Given the description of an element on the screen output the (x, y) to click on. 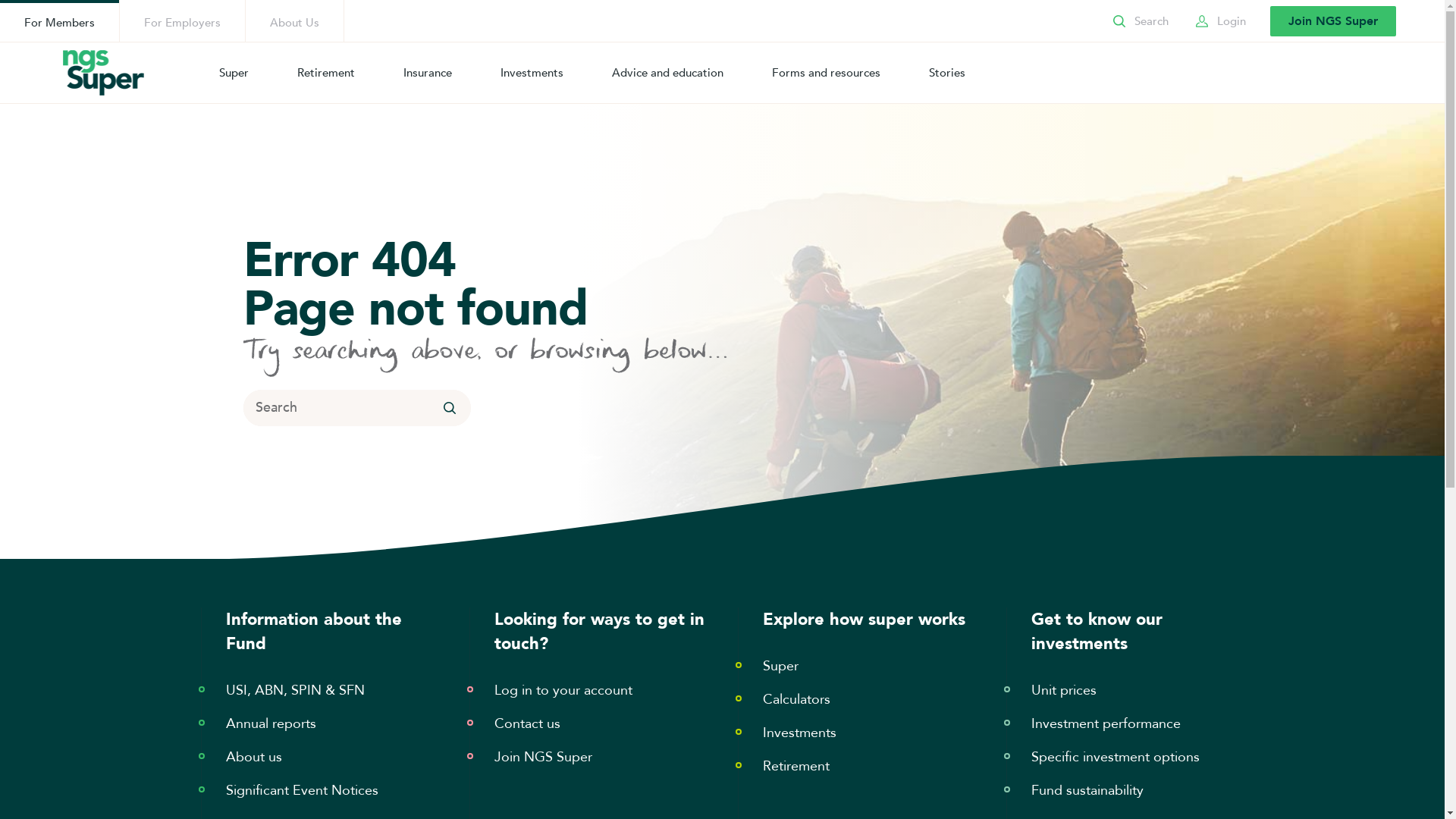
About us Element type: text (253, 756)
Retirement Element type: text (795, 765)
About Us Element type: text (294, 20)
Contact us Element type: text (527, 723)
For Members Element type: text (59, 20)
Investments Element type: text (531, 72)
Specific investment options Element type: text (1115, 756)
Stories Element type: text (946, 72)
Forms and resources Element type: text (825, 72)
Annual reports Element type: text (270, 723)
Retirement Element type: text (326, 72)
Investment performance Element type: text (1105, 723)
Super Element type: text (780, 665)
Calculators Element type: text (796, 699)
Login Element type: text (1218, 21)
For Employers Element type: text (181, 20)
Join NGS Super Element type: text (1333, 21)
Significant Event Notices Element type: text (301, 790)
Unit prices Element type: text (1063, 689)
Fund sustainability Element type: text (1087, 790)
Join NGS Super Element type: text (543, 756)
Super Element type: text (233, 72)
Log in to your account Element type: text (563, 689)
USI, ABN, SPIN & SFN Element type: text (294, 689)
Investments Element type: text (799, 732)
Search Element type: text (1139, 21)
Advice and education Element type: text (667, 72)
Insurance Element type: text (427, 72)
